Given the description of an element on the screen output the (x, y) to click on. 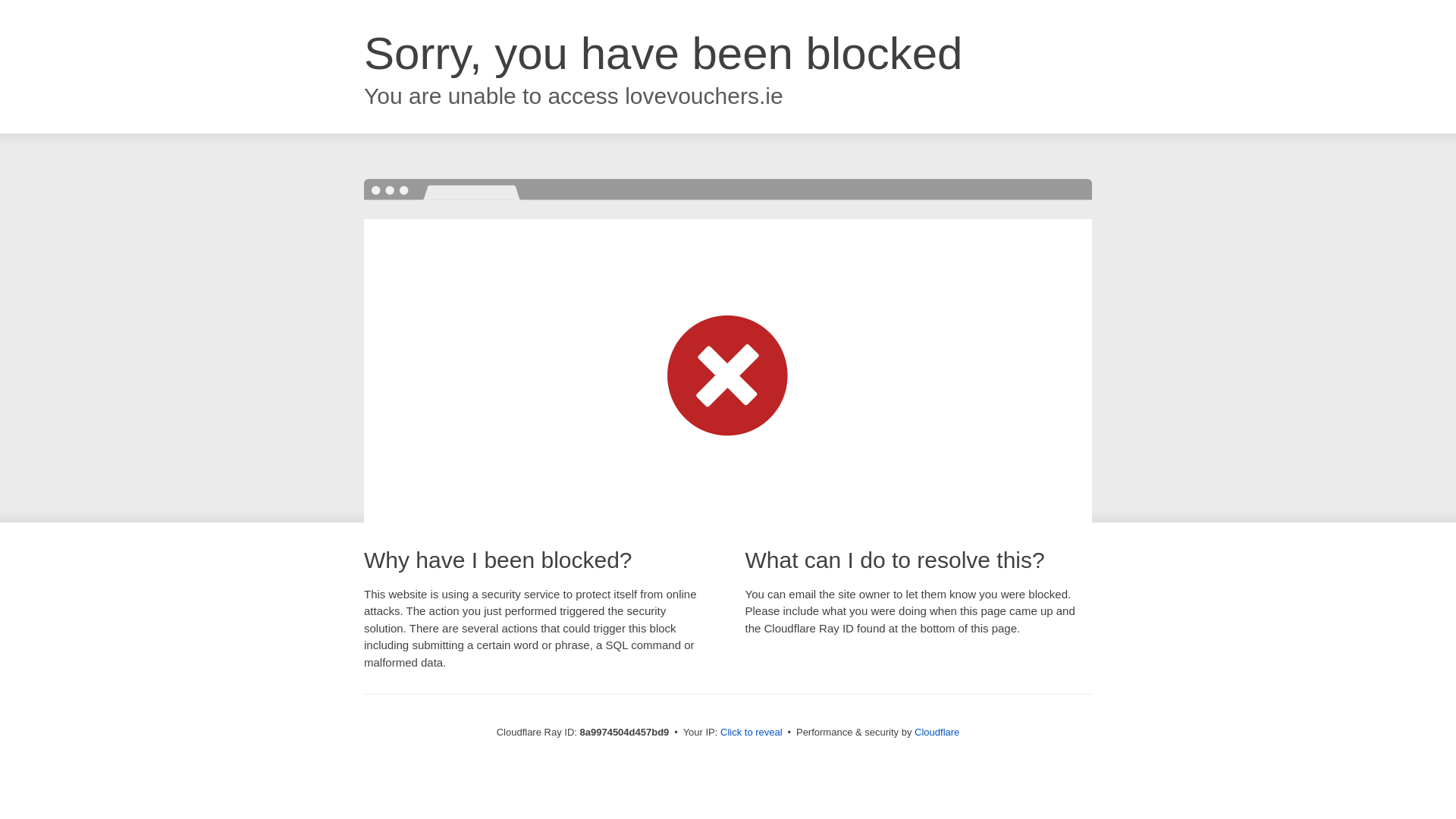
Cloudflare (936, 731)
Click to reveal (751, 732)
